Given the description of an element on the screen output the (x, y) to click on. 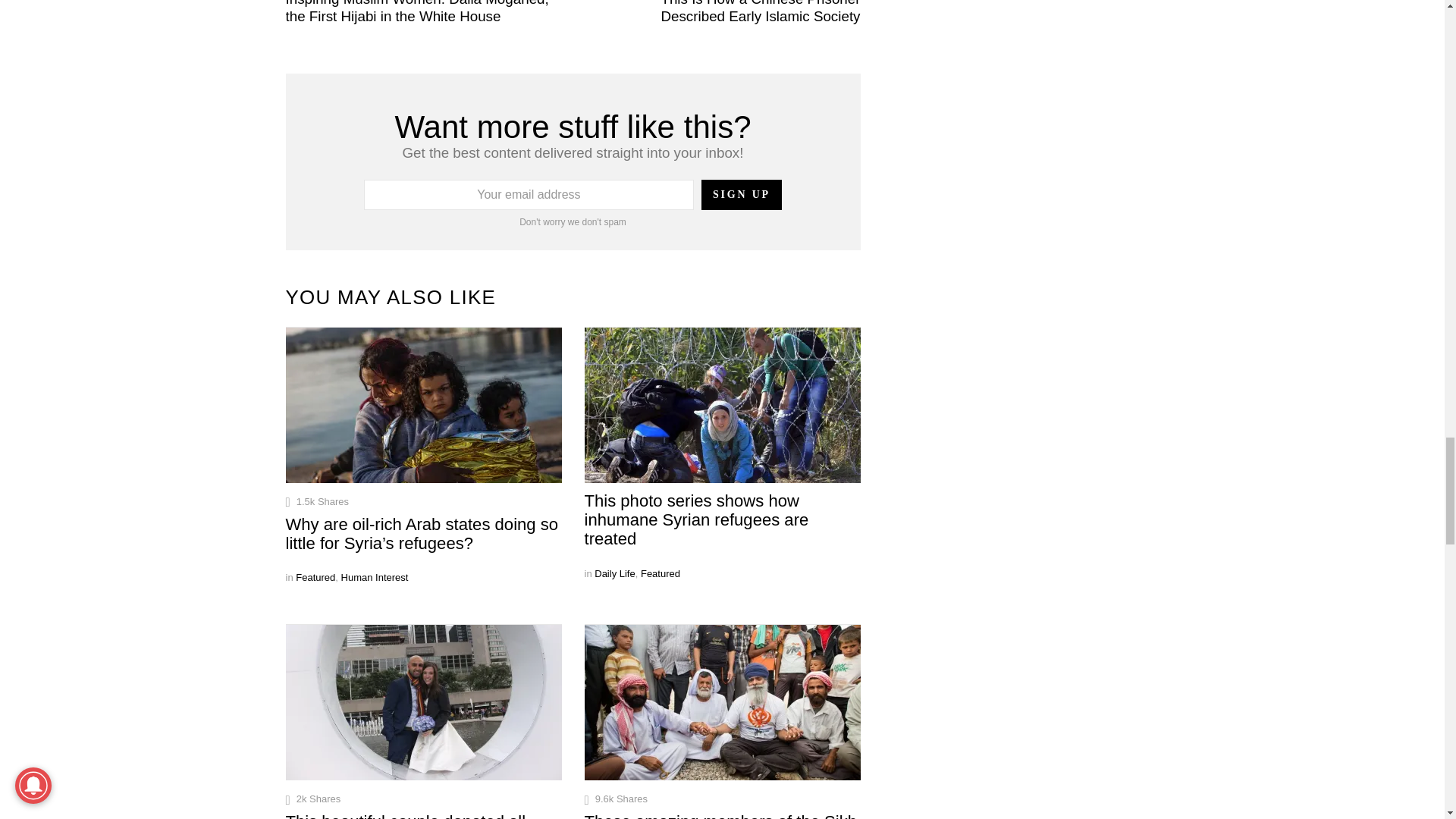
Sign up (741, 194)
